Given the description of an element on the screen output the (x, y) to click on. 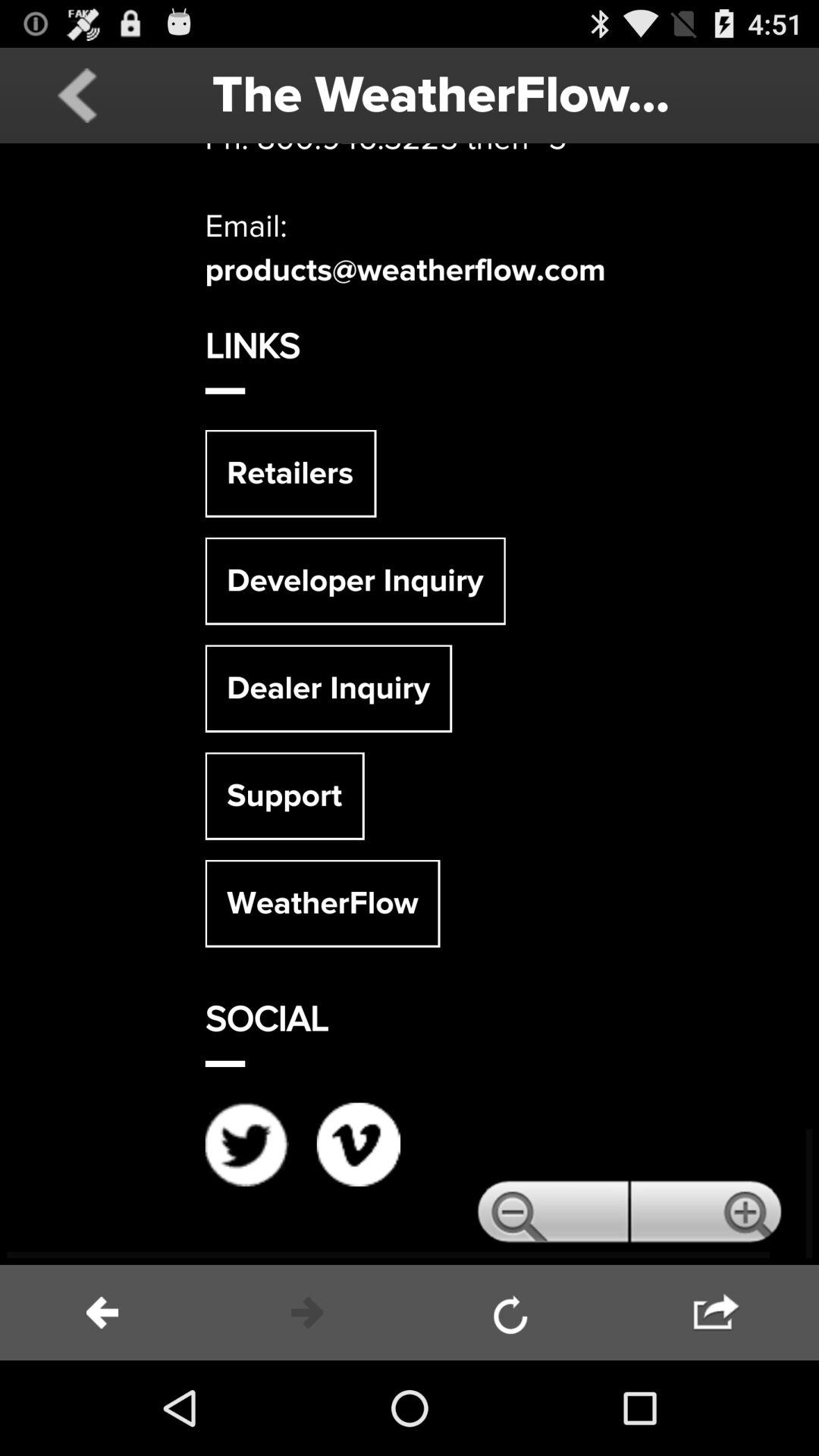
back (77, 95)
